Given the description of an element on the screen output the (x, y) to click on. 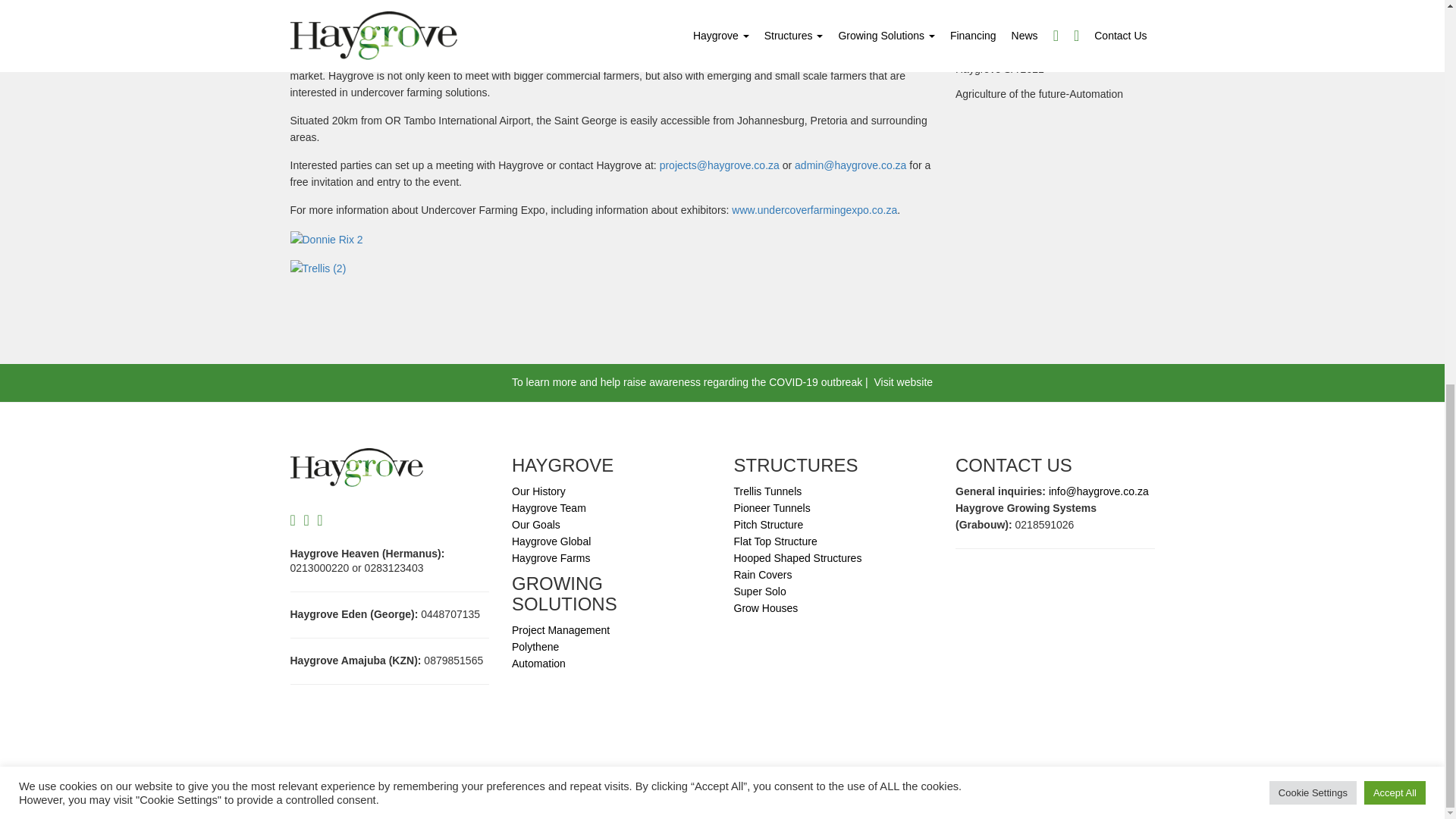
www.undercoverfarmingexpo.co.za (814, 209)
